Given the description of an element on the screen output the (x, y) to click on. 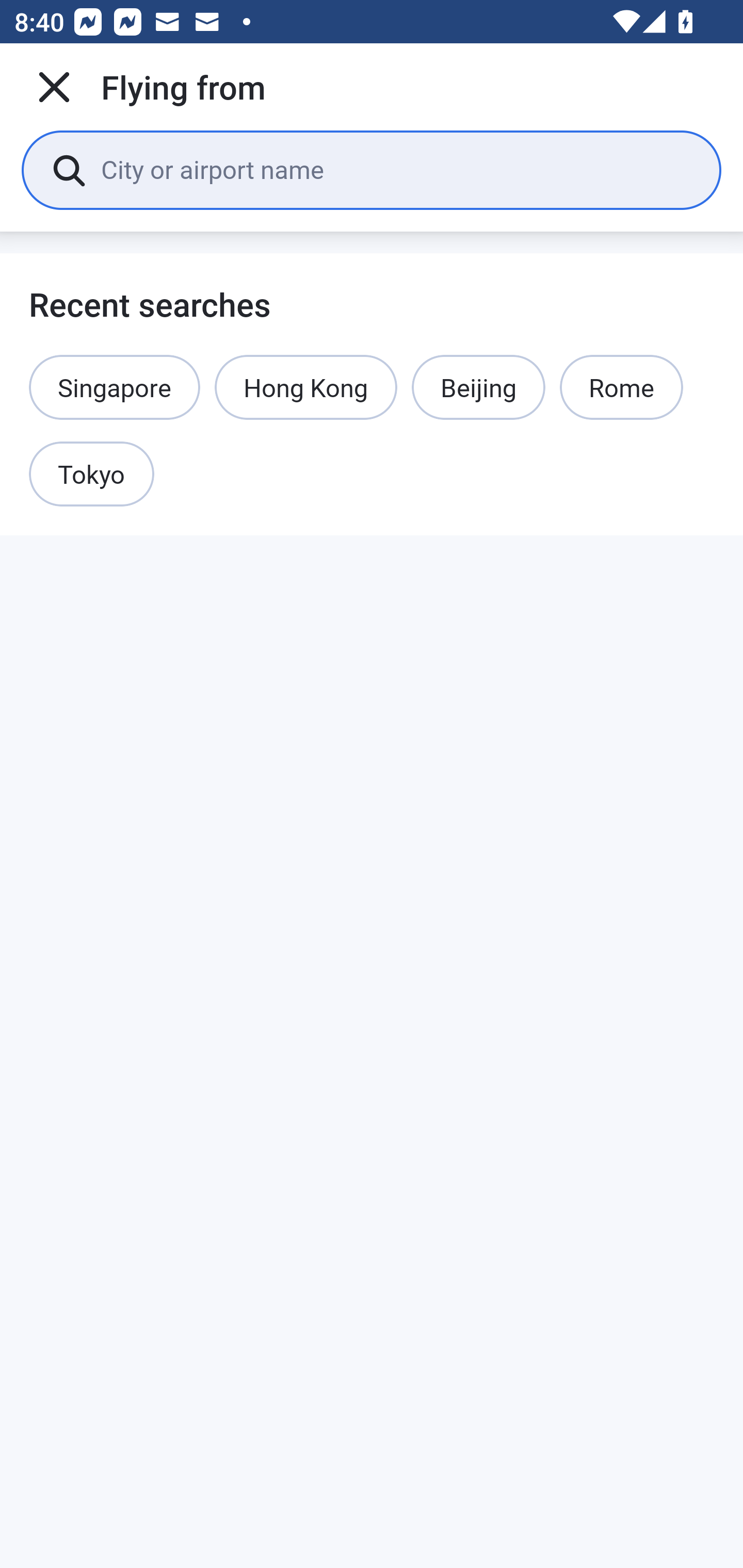
City or airport name (396, 169)
Singapore (113, 387)
Hong Kong (305, 387)
Beijing (478, 387)
Rome (620, 387)
Tokyo (91, 474)
